Given the description of an element on the screen output the (x, y) to click on. 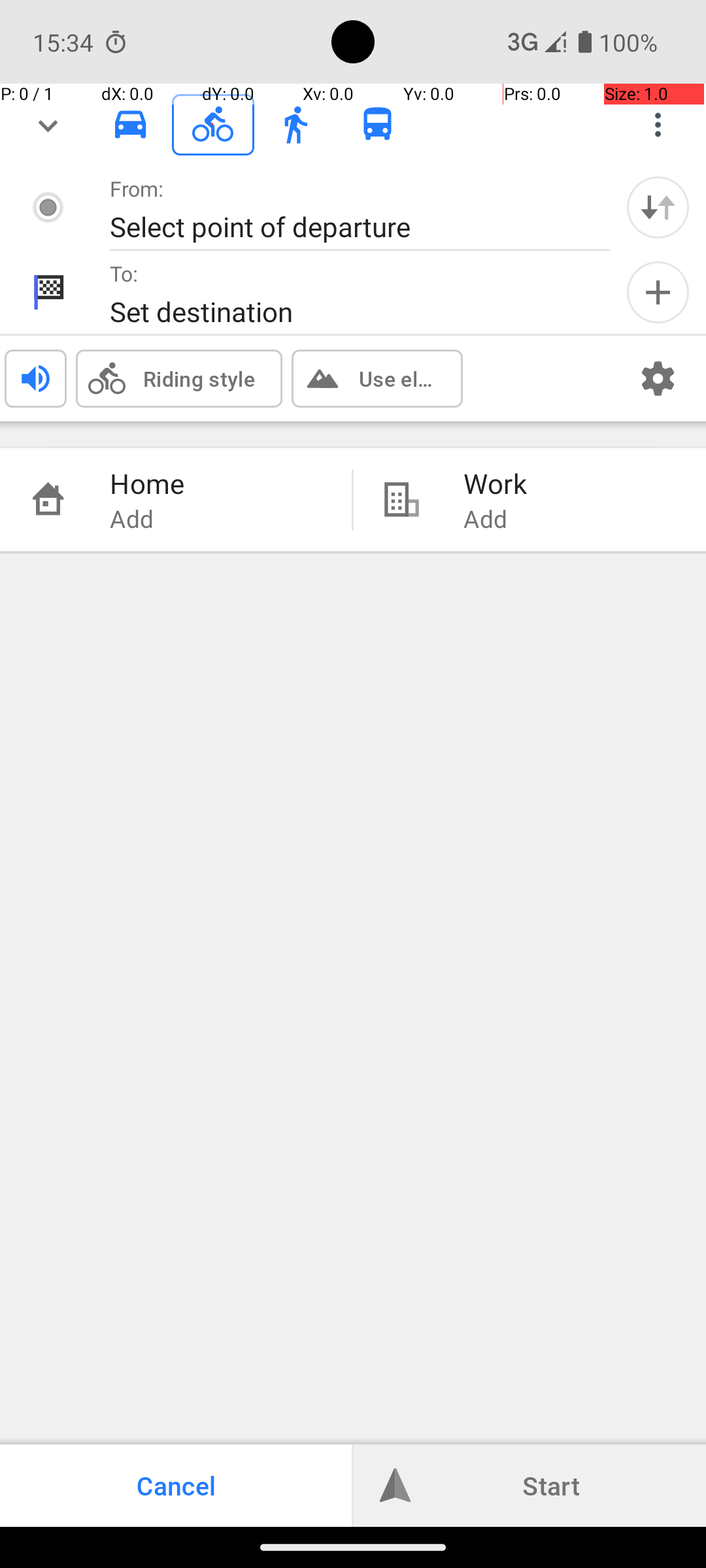
fold/unfold Element type: android.widget.ImageView (48, 124)
Choose app modes Element type: android.widget.ImageView (657, 124)
Driving Element type: android.widget.FrameLayout (130, 124)
Cycling Element type: android.widget.FrameLayout (212, 124)
Walking Element type: android.widget.FrameLayout (295, 124)
Public transport Element type: android.widget.FrameLayout (377, 124)
From: Element type: android.widget.TextView (136, 188)
Select point of departure Element type: android.widget.TextView (345, 226)
Swap Element type: android.widget.FrameLayout (657, 207)
To: Element type: android.widget.TextView (123, 273)
Set destination Element type: android.widget.TextView (345, 310)
Add Element type: android.widget.FrameLayout (657, 292)
Driving unchecked Element type: android.widget.ImageView (130, 124)
Cycling checked Element type: android.widget.ImageView (212, 124)
Walking unchecked Element type: android.widget.ImageView (294, 124)
Public transport unchecked Element type: android.widget.ImageView (377, 124)
Riding style Element type: android.widget.TextView (198, 378)
Use elevation data Element type: android.widget.TextView (396, 378)
